Given the description of an element on the screen output the (x, y) to click on. 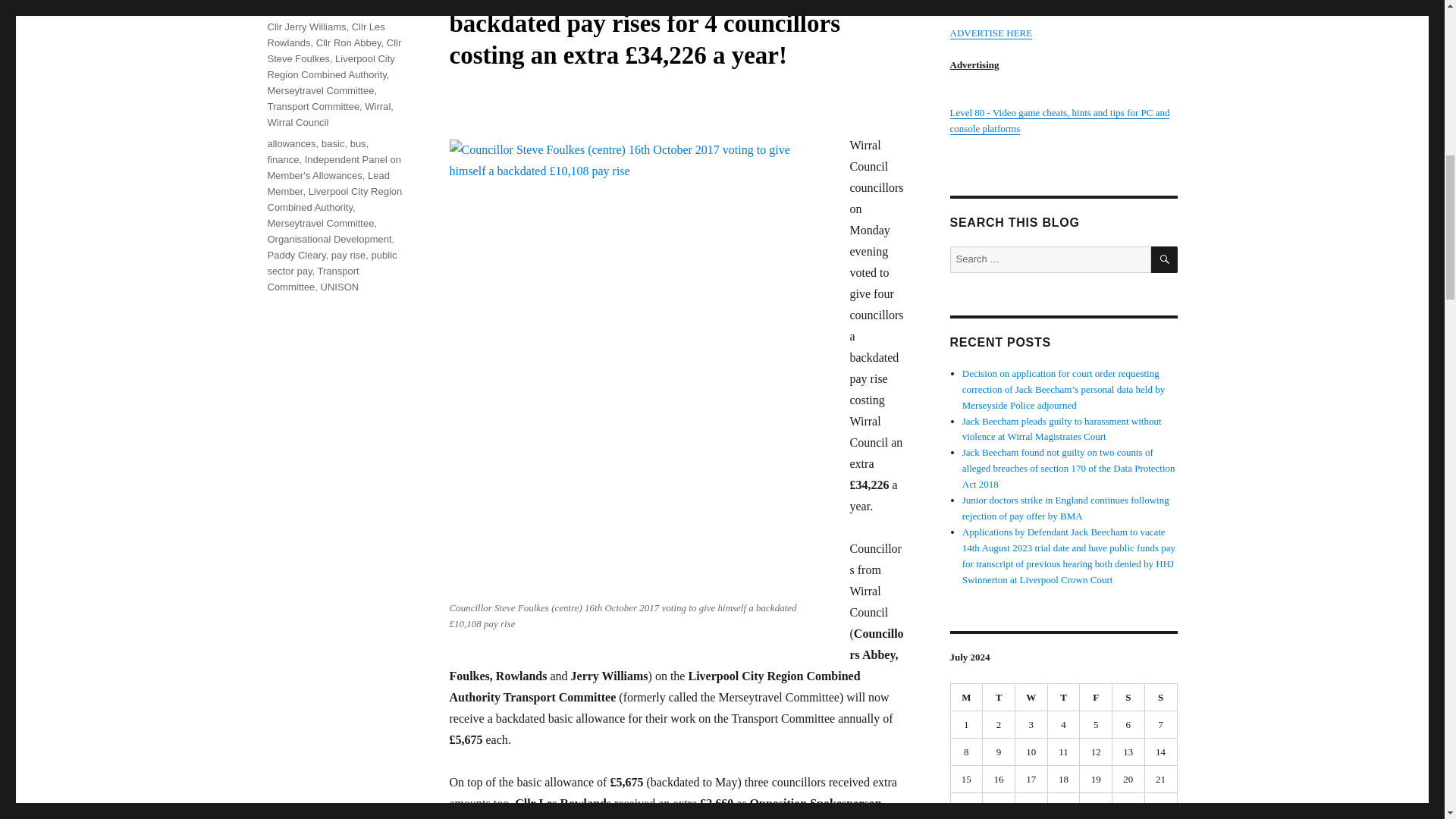
bus (358, 143)
Thursday (1064, 697)
Friday (1096, 697)
Wirral Council (297, 122)
Cllr Steve Foulkes (333, 50)
Wednesday (1031, 697)
Transport Committee (312, 106)
Cllr Jerry Williams (306, 26)
Cllr Ron Abbey (348, 42)
Tuesday (998, 697)
